Given the description of an element on the screen output the (x, y) to click on. 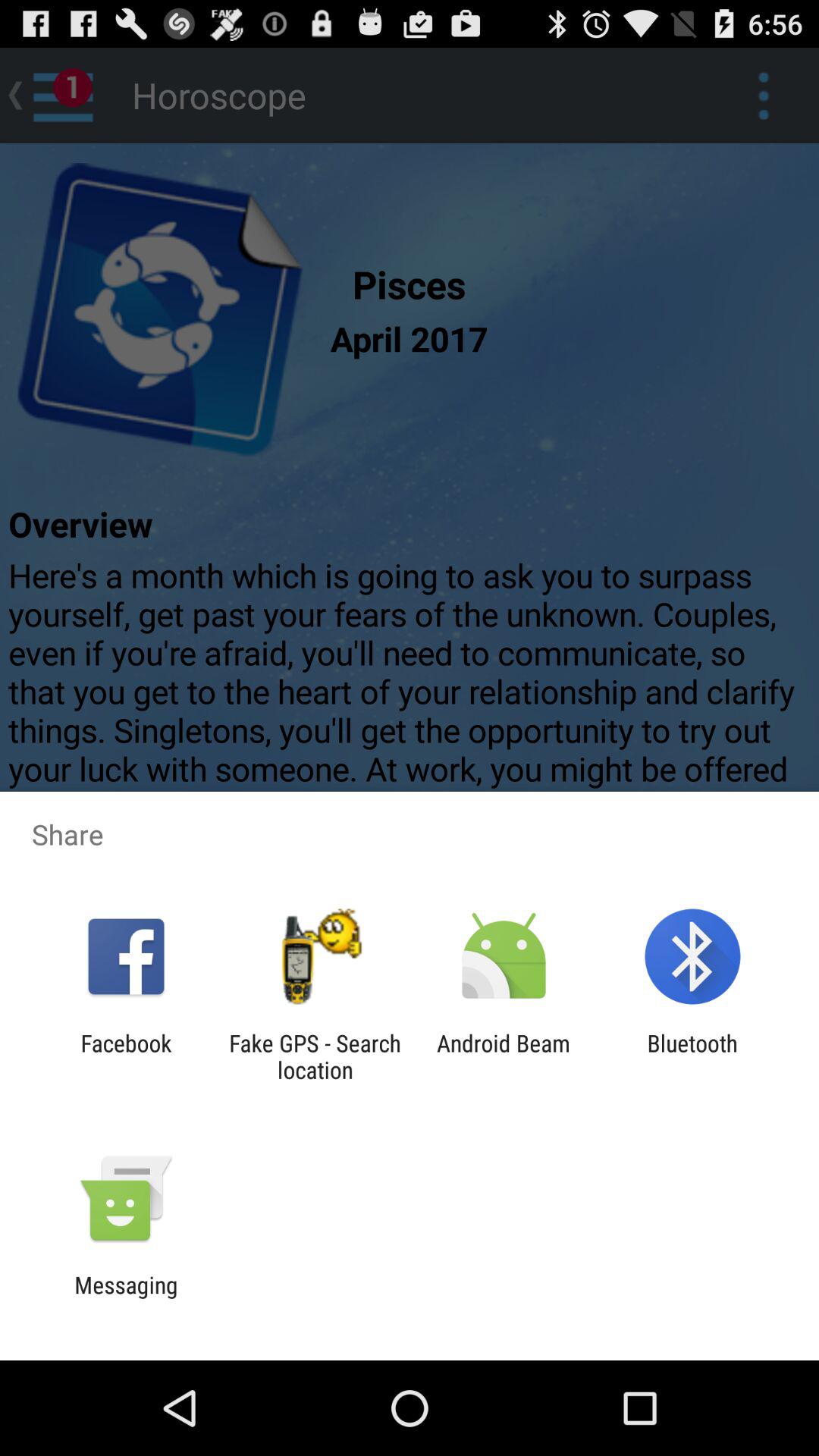
click item next to bluetooth item (503, 1056)
